Given the description of an element on the screen output the (x, y) to click on. 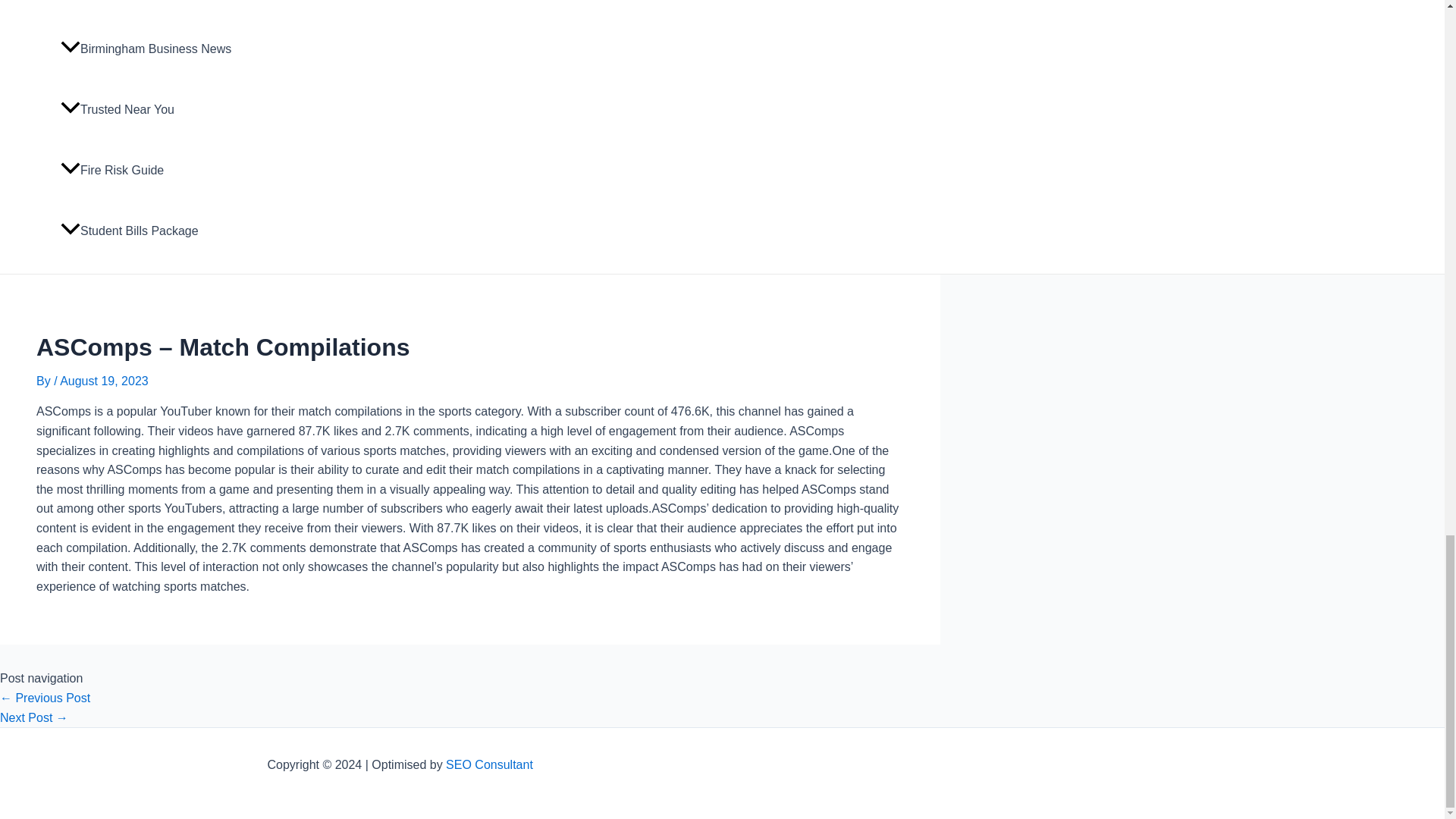
Student Bills Package (151, 230)
Trusted Near You (151, 109)
Fire Risk Guide (151, 170)
Contractor Mortgages (151, 9)
Birmingham Business News (151, 48)
